Given the description of an element on the screen output the (x, y) to click on. 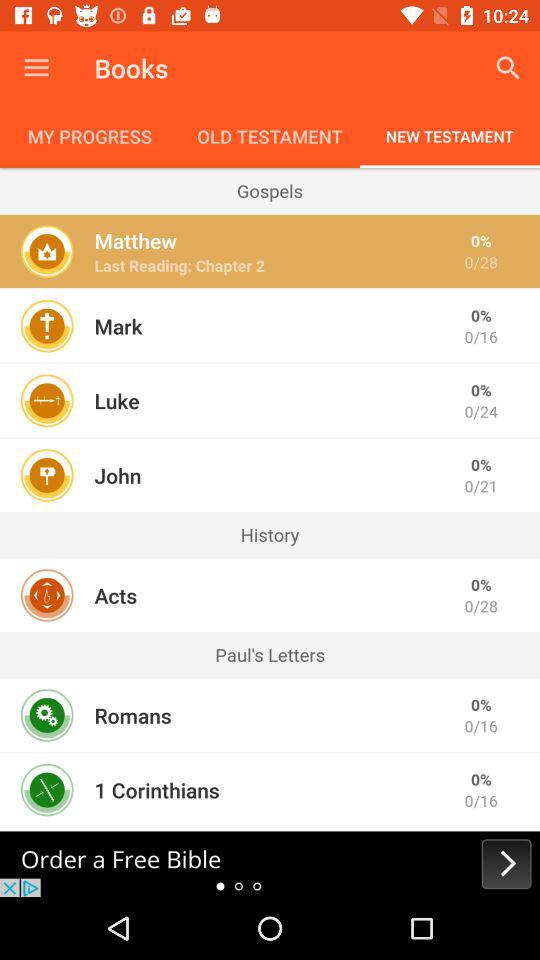
turn off the item next to books icon (36, 68)
